Given the description of an element on the screen output the (x, y) to click on. 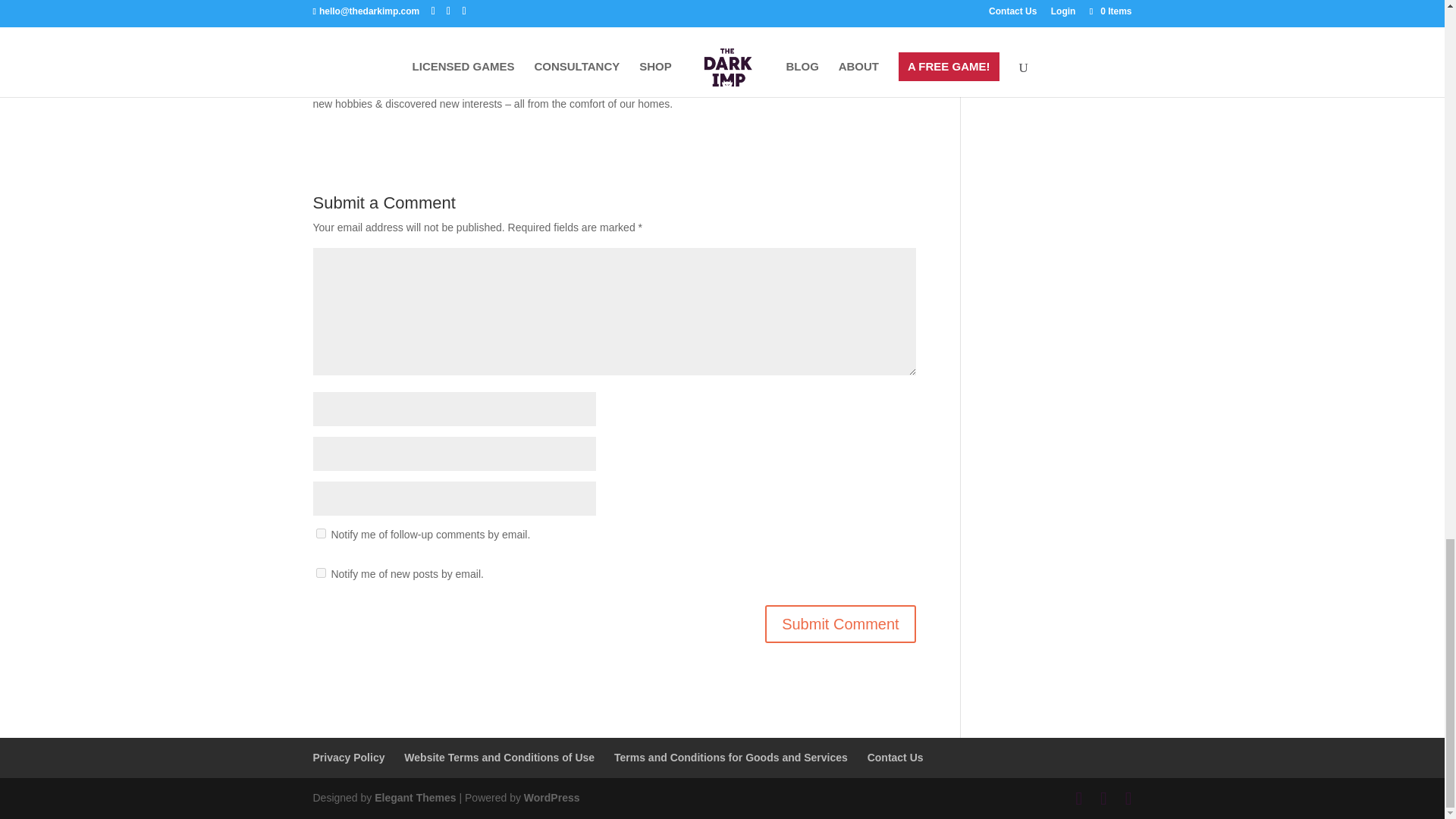
subscribe (319, 573)
Submit Comment (840, 623)
Submit Comment (840, 623)
subscribe (319, 533)
Premium WordPress Themes (414, 797)
